Given the description of an element on the screen output the (x, y) to click on. 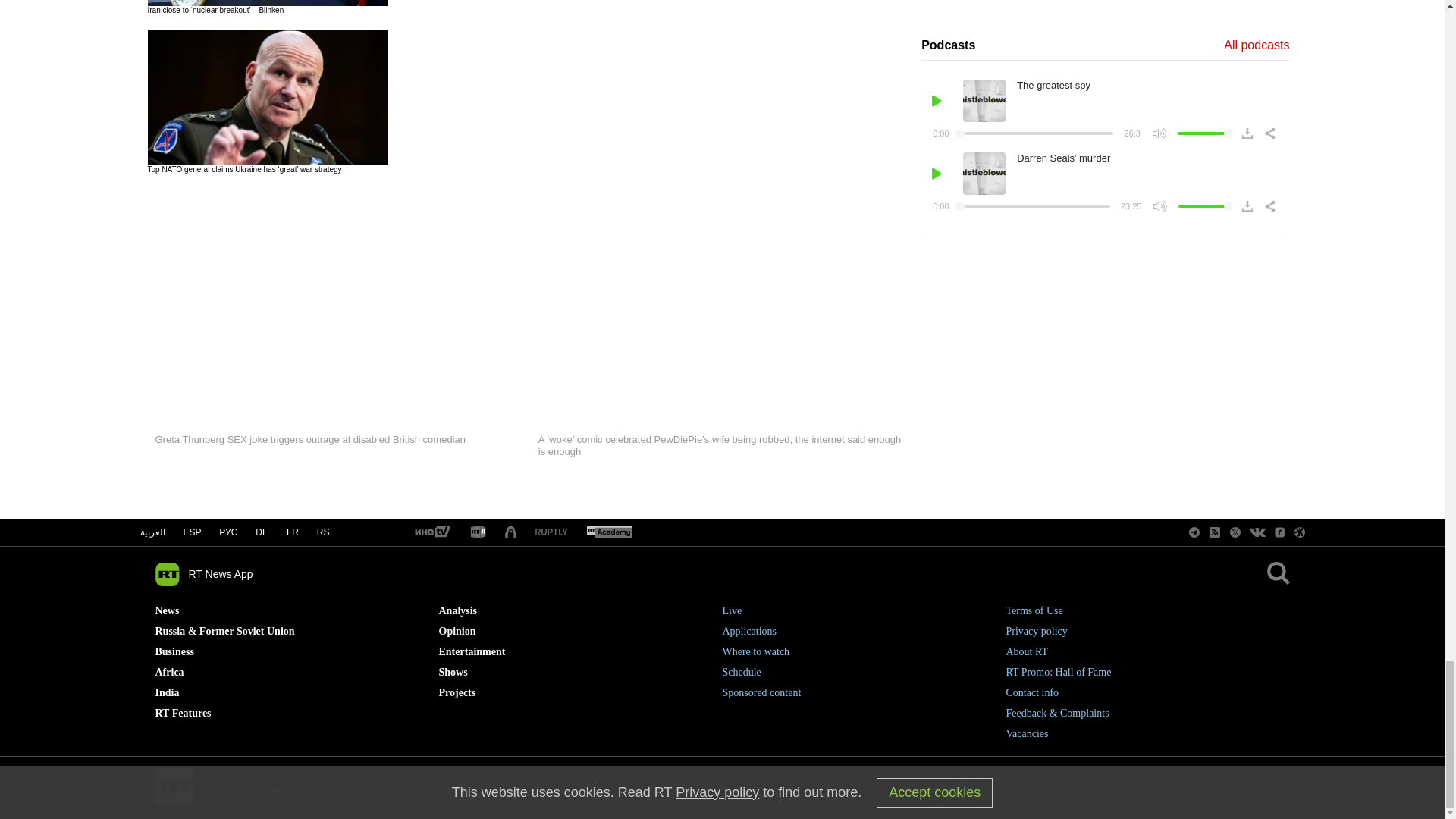
RT  (431, 532)
RT  (551, 532)
RT  (478, 532)
RT  (608, 532)
